Given the description of an element on the screen output the (x, y) to click on. 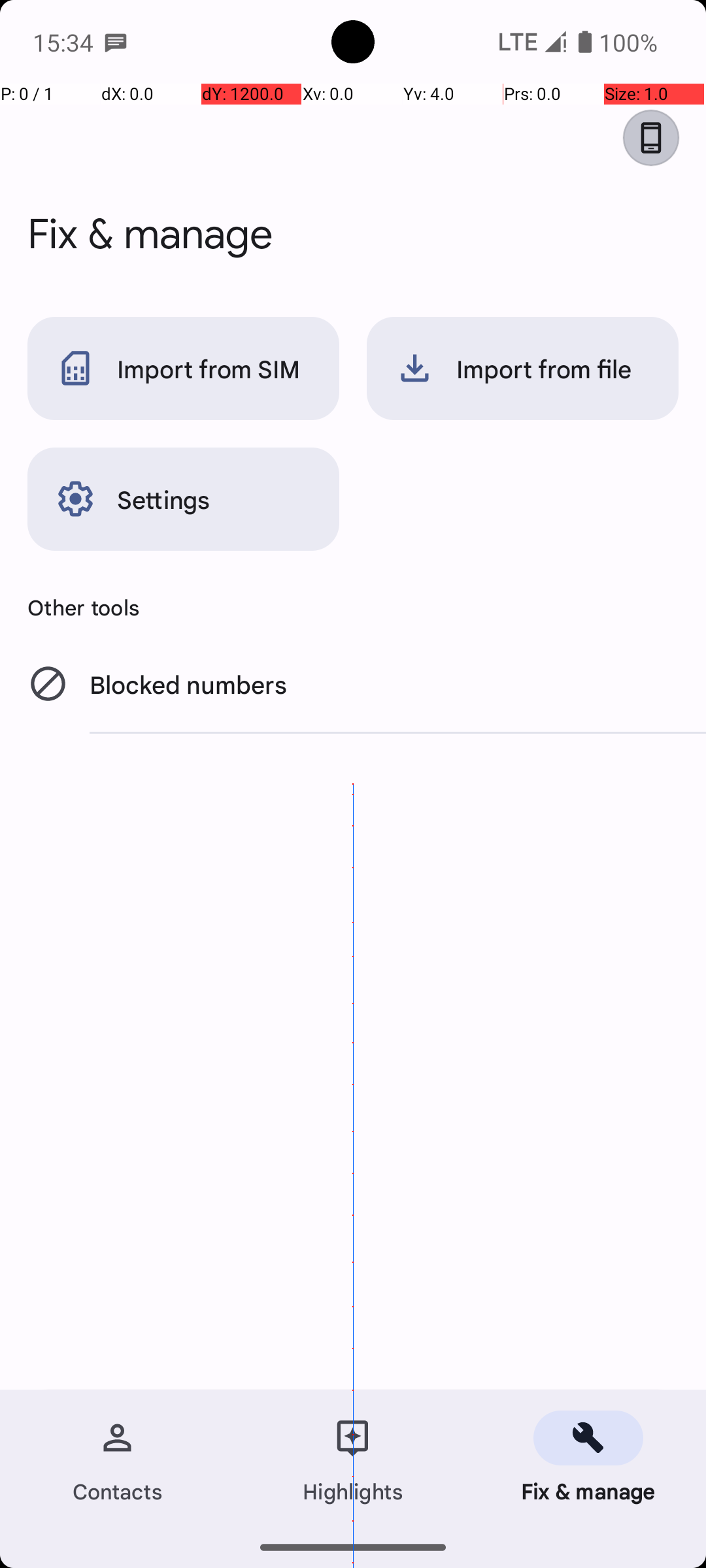
Other tools Element type: android.widget.TextView (353, 606)
Import from SIM Element type: android.widget.TextView (183, 368)
Import from file Element type: android.widget.TextView (522, 368)
